Given the description of an element on the screen output the (x, y) to click on. 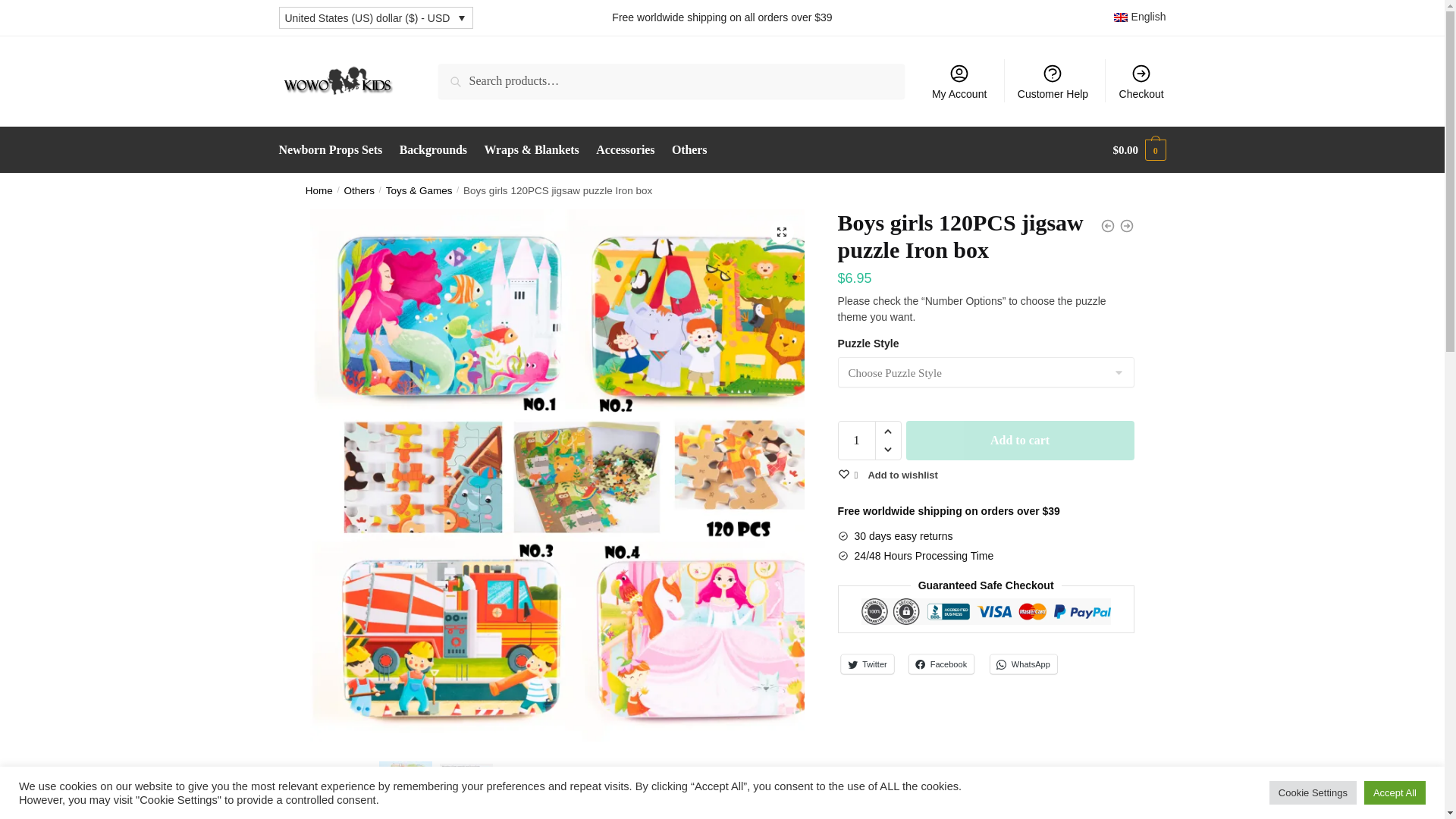
View your shopping cart (1139, 149)
English (1139, 16)
Home (319, 190)
Checkout (1141, 80)
Others (689, 149)
Customer Help (1053, 80)
Search (459, 74)
Backgrounds (433, 149)
Accessories (625, 149)
Newborn Props Sets (333, 149)
My Account (959, 80)
English (1139, 16)
1 (857, 440)
